Given the description of an element on the screen output the (x, y) to click on. 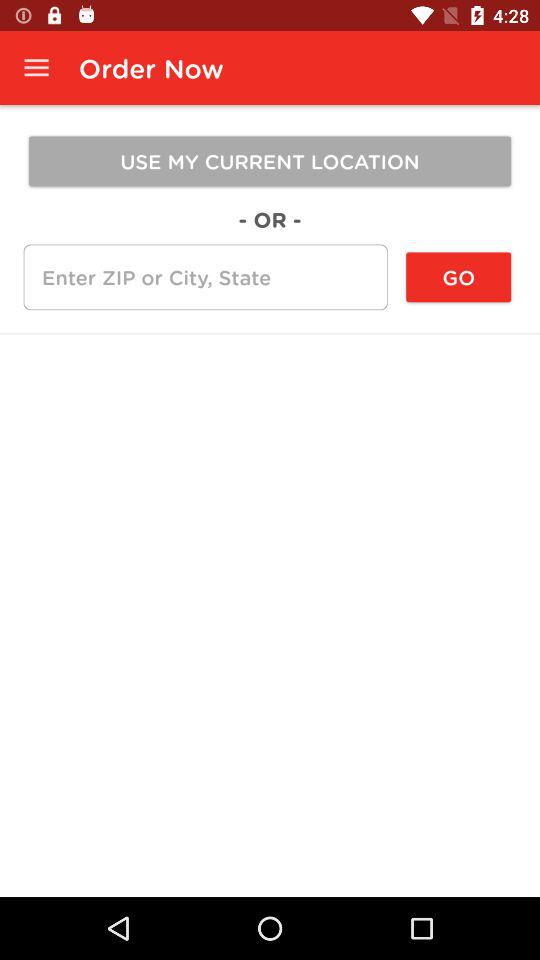
select the use my current item (269, 161)
